Given the description of an element on the screen output the (x, y) to click on. 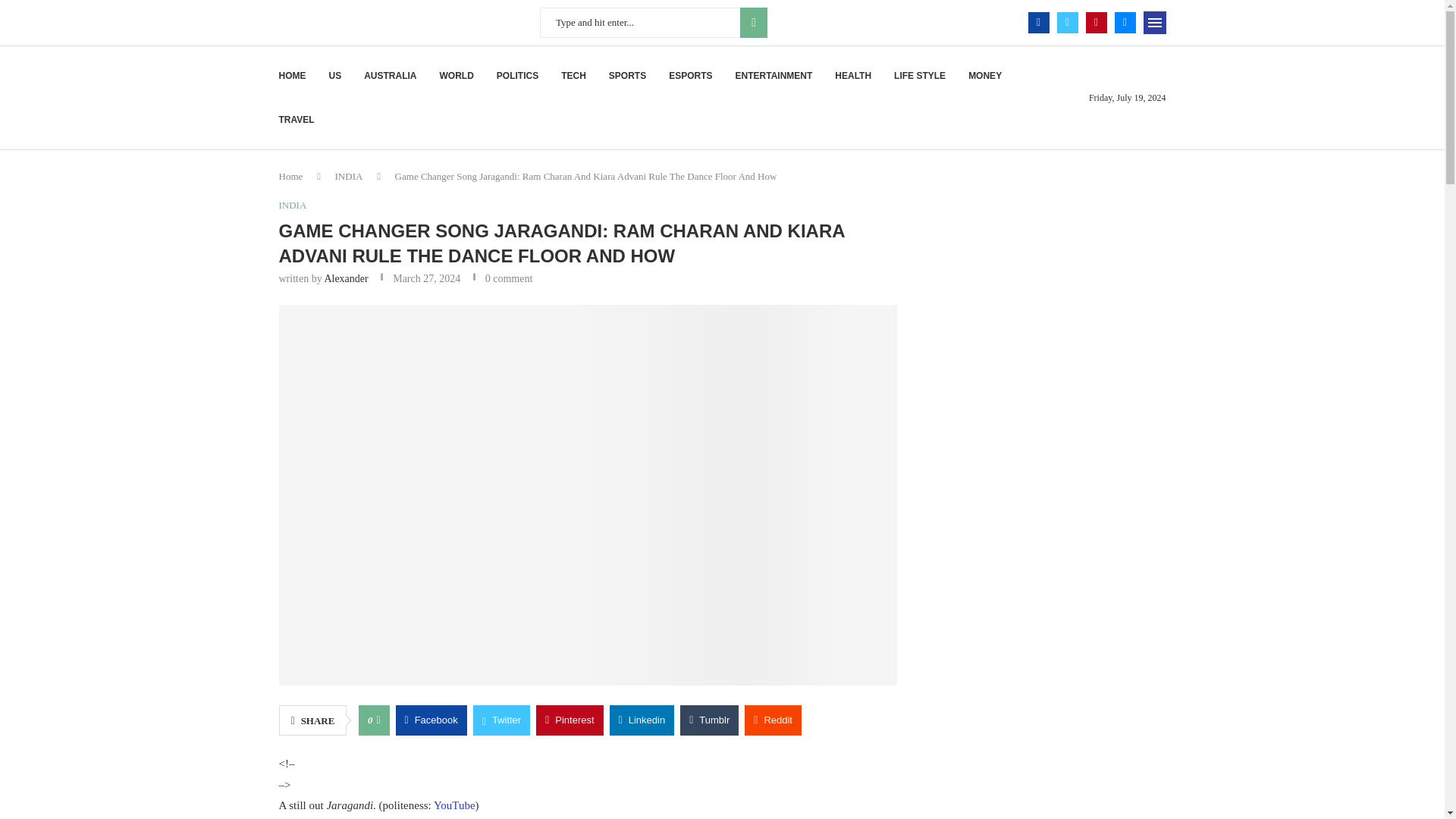
LIFE STYLE (918, 75)
ESPORTS (689, 75)
POLITICS (517, 75)
AUSTRALIA (390, 75)
ENTERTAINMENT (773, 75)
SEARCH (753, 22)
